Given the description of an element on the screen output the (x, y) to click on. 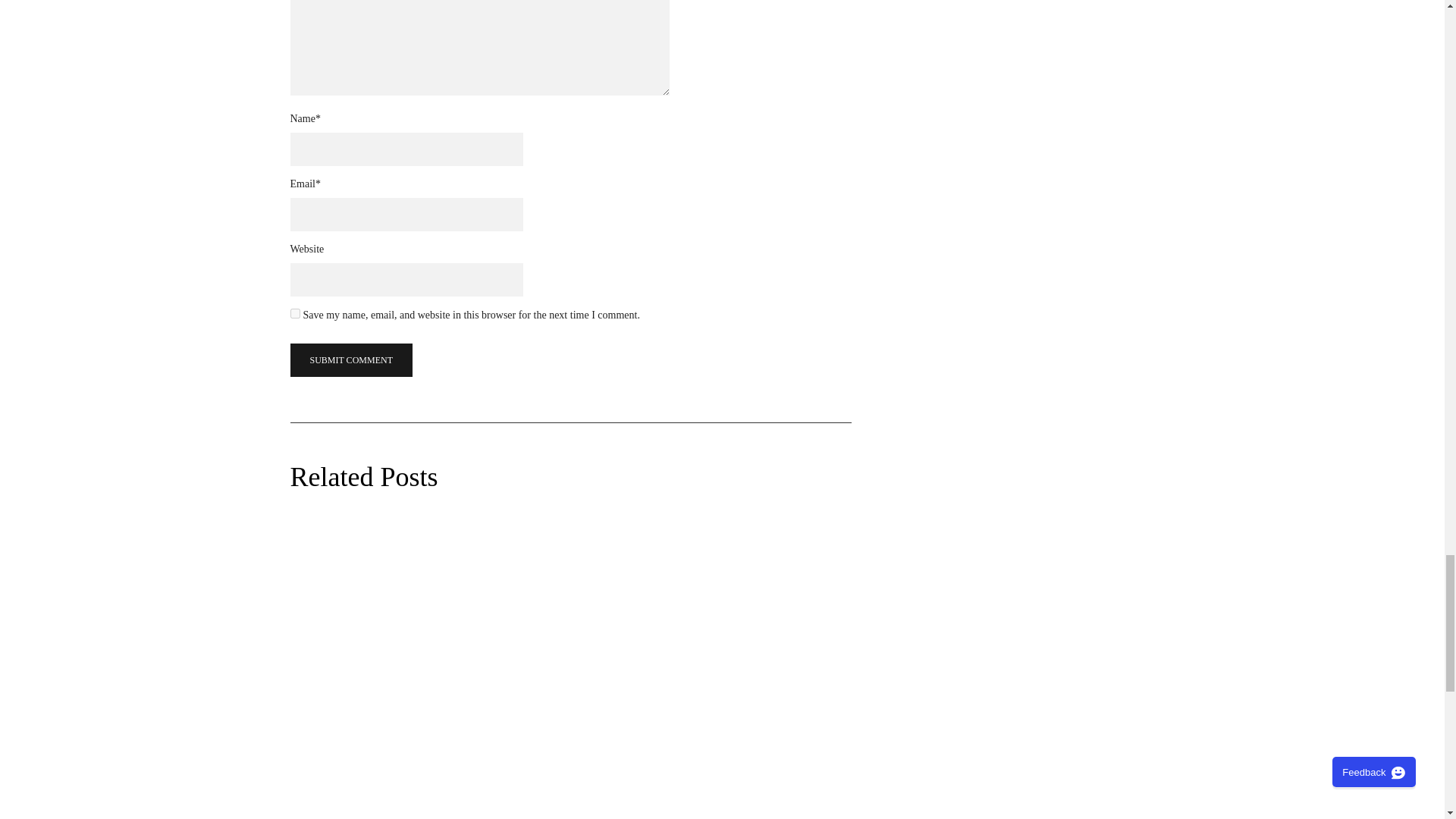
yes (294, 313)
Submit Comment (350, 359)
